Given the description of an element on the screen output the (x, y) to click on. 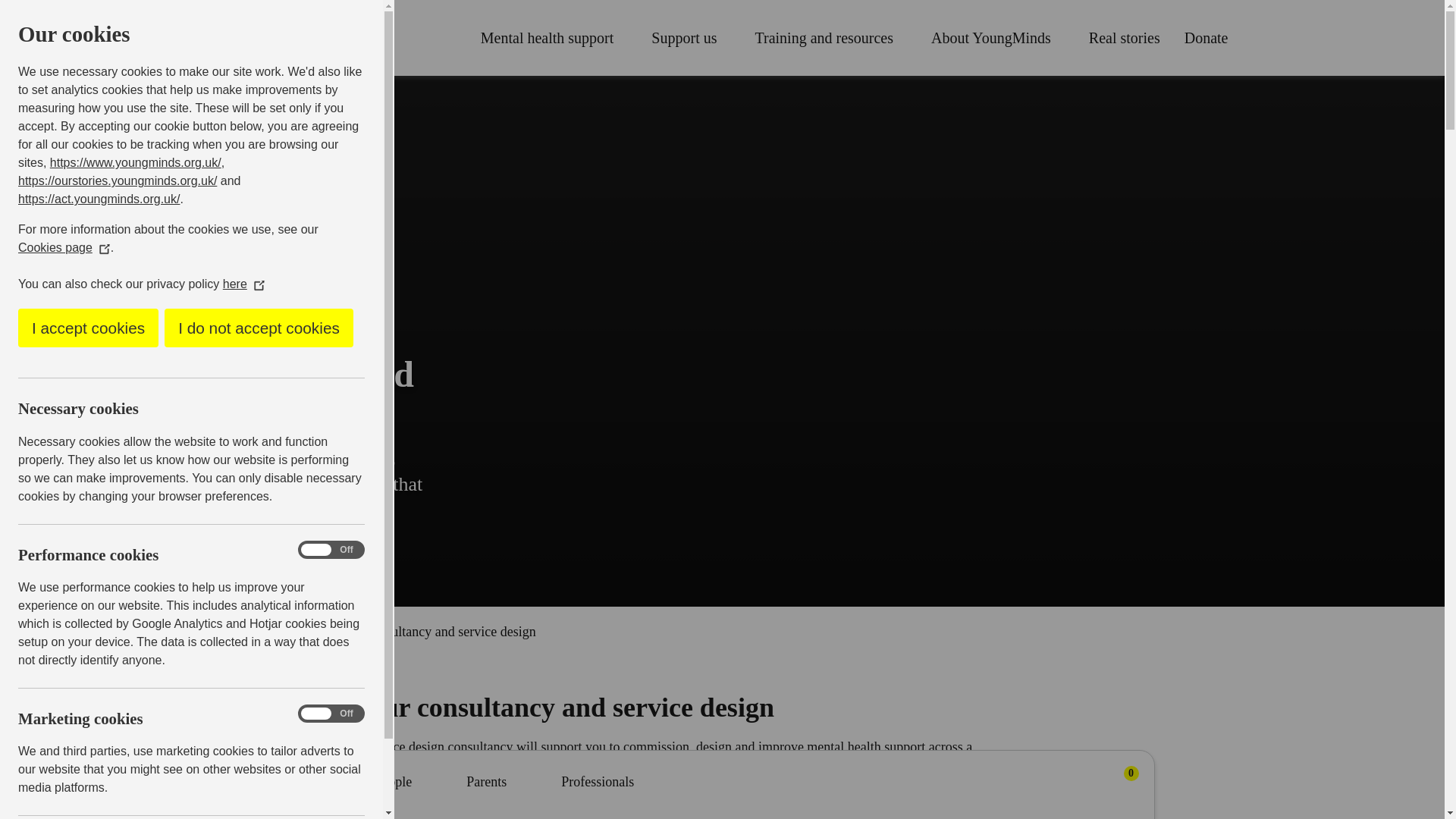
Donate (1206, 37)
Young people (358, 781)
About YoungMinds (997, 37)
Real stories (1124, 37)
Support us (690, 37)
Youngminds - fighting for young people's mental health (260, 37)
Training and resources (1119, 784)
I work with young people (830, 37)
Parents (274, 631)
